Given the description of an element on the screen output the (x, y) to click on. 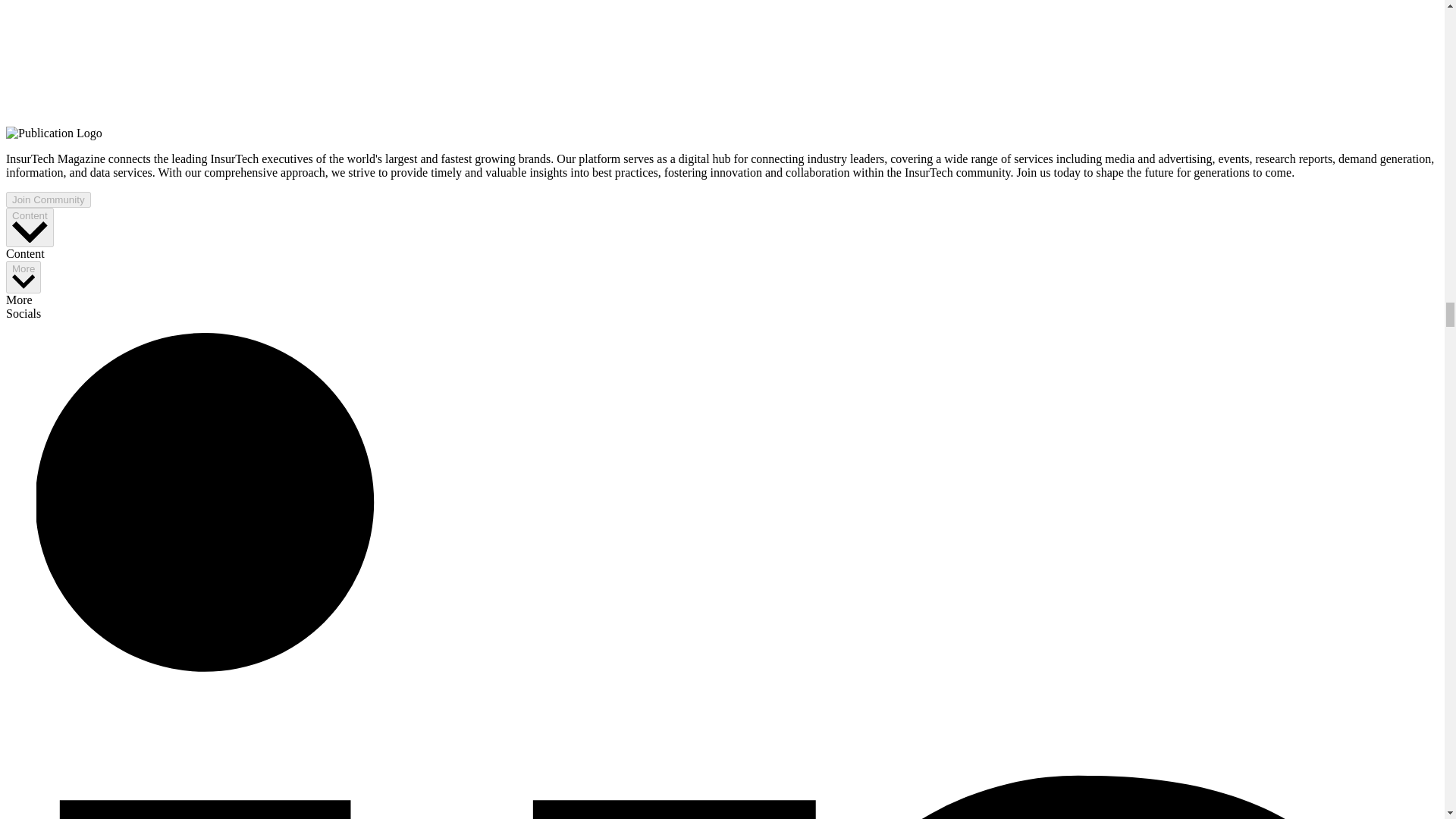
Content (29, 228)
Join Community (47, 199)
